Given the description of an element on the screen output the (x, y) to click on. 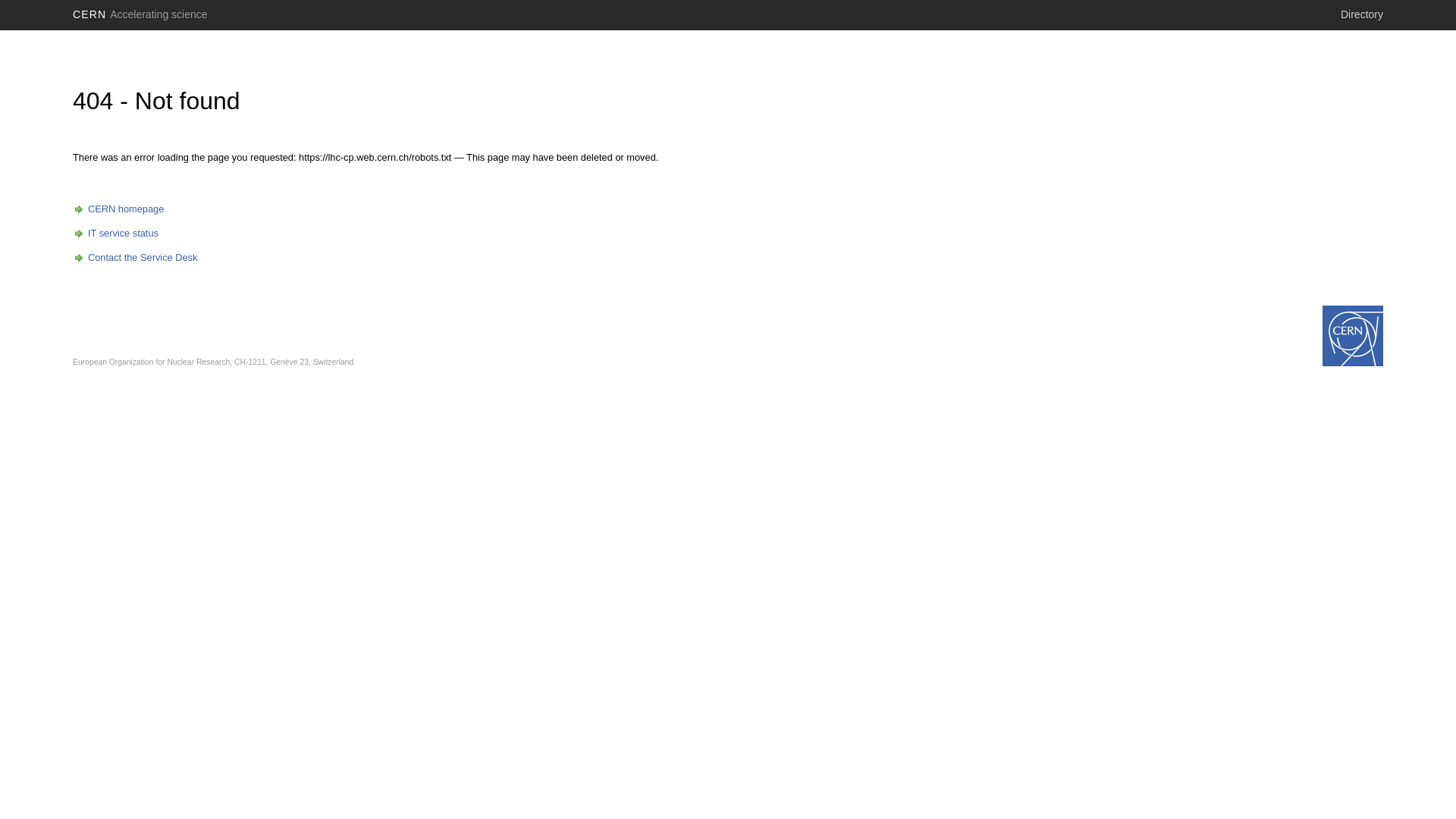
www.cern.ch Element type: hover (1352, 335)
CERN Accelerating science Element type: text (139, 14)
Contact the Service Desk Element type: text (134, 257)
Directory Element type: text (1361, 14)
IT service status Element type: text (115, 232)
CERN homepage Element type: text (117, 208)
